Given the description of an element on the screen output the (x, y) to click on. 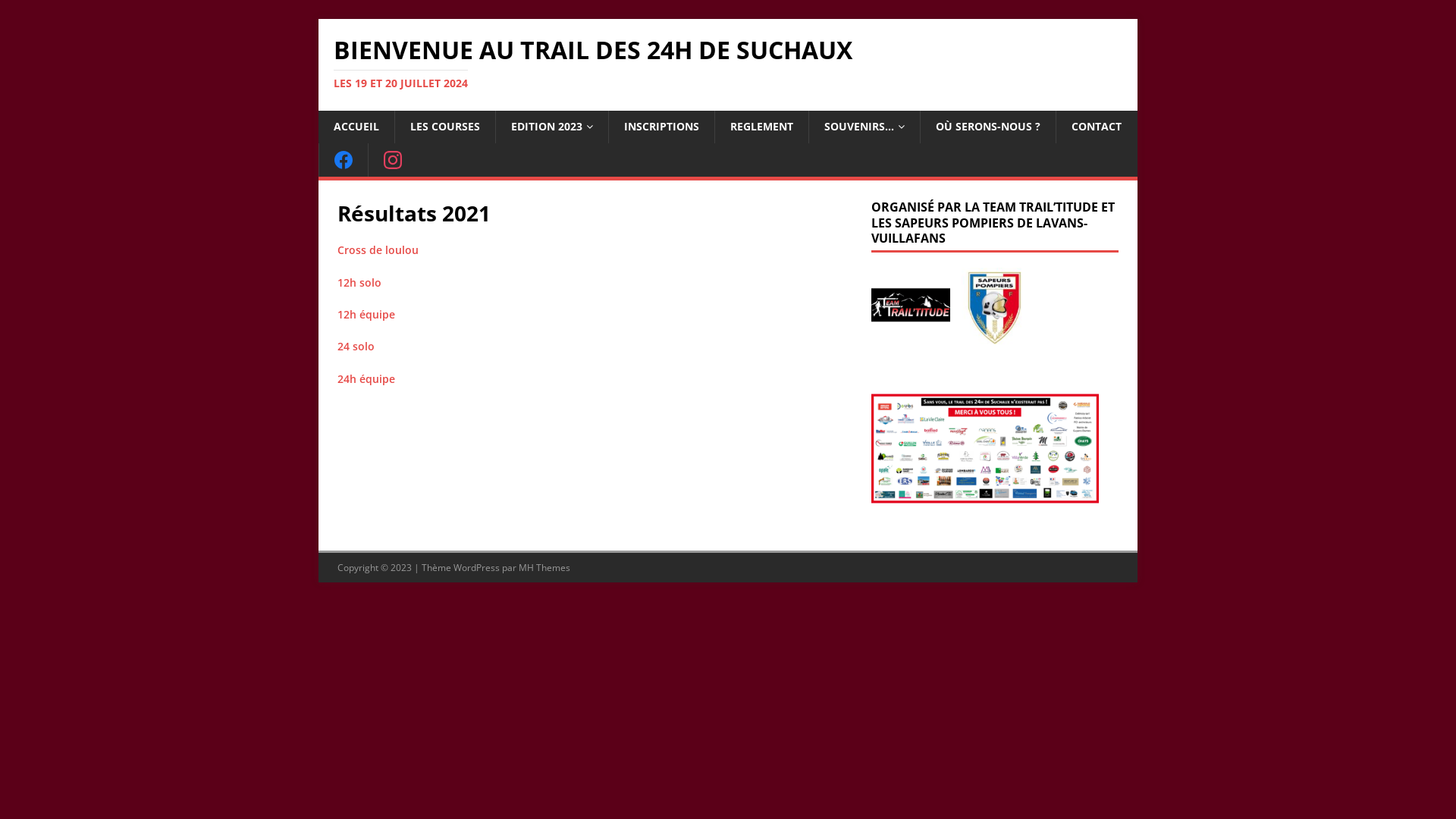
FACEBOOK Element type: text (342, 159)
EDITION 2023 Element type: text (551, 126)
MH Themes Element type: text (544, 567)
LES COURSES Element type: text (444, 126)
ACCUEIL Element type: text (356, 126)
CONTACT Element type: text (1095, 126)
INSCRIPTIONS Element type: text (661, 126)
12h solo Element type: text (359, 282)
Cross de loulou Element type: text (377, 249)
REGLEMENT Element type: text (761, 126)
24 solo Element type: text (355, 345)
INSTAGRAM Element type: text (392, 159)
